Given the description of an element on the screen output the (x, y) to click on. 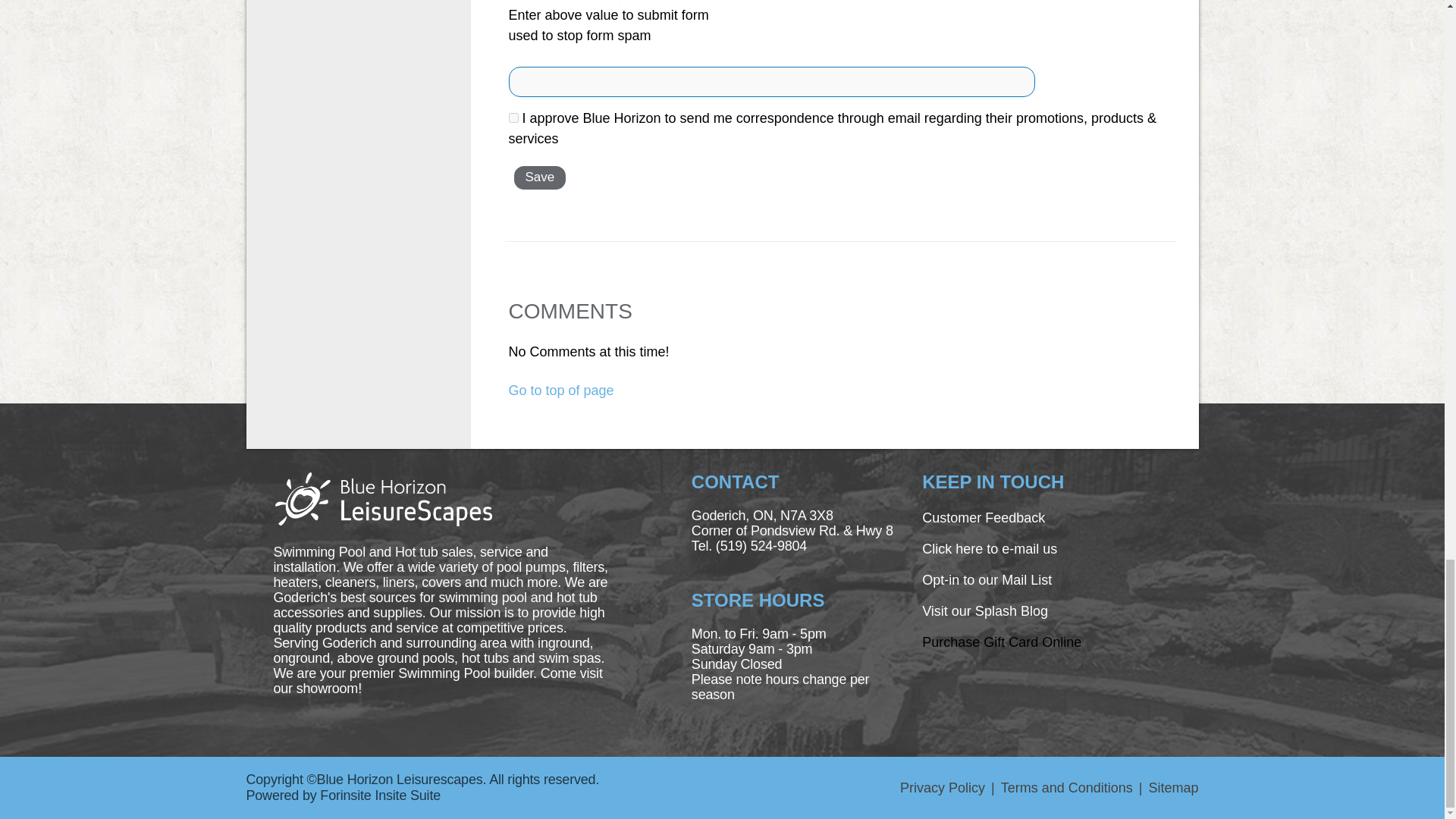
Click here to e-mail us (989, 548)
Visit our Splash Blog (1001, 642)
Opt-in to our Mail List (986, 580)
Leisure Scapes (382, 498)
Save (539, 177)
Customer Feedback (983, 517)
on (513, 117)
Visit our Splash Blog (984, 611)
